Given the description of an element on the screen output the (x, y) to click on. 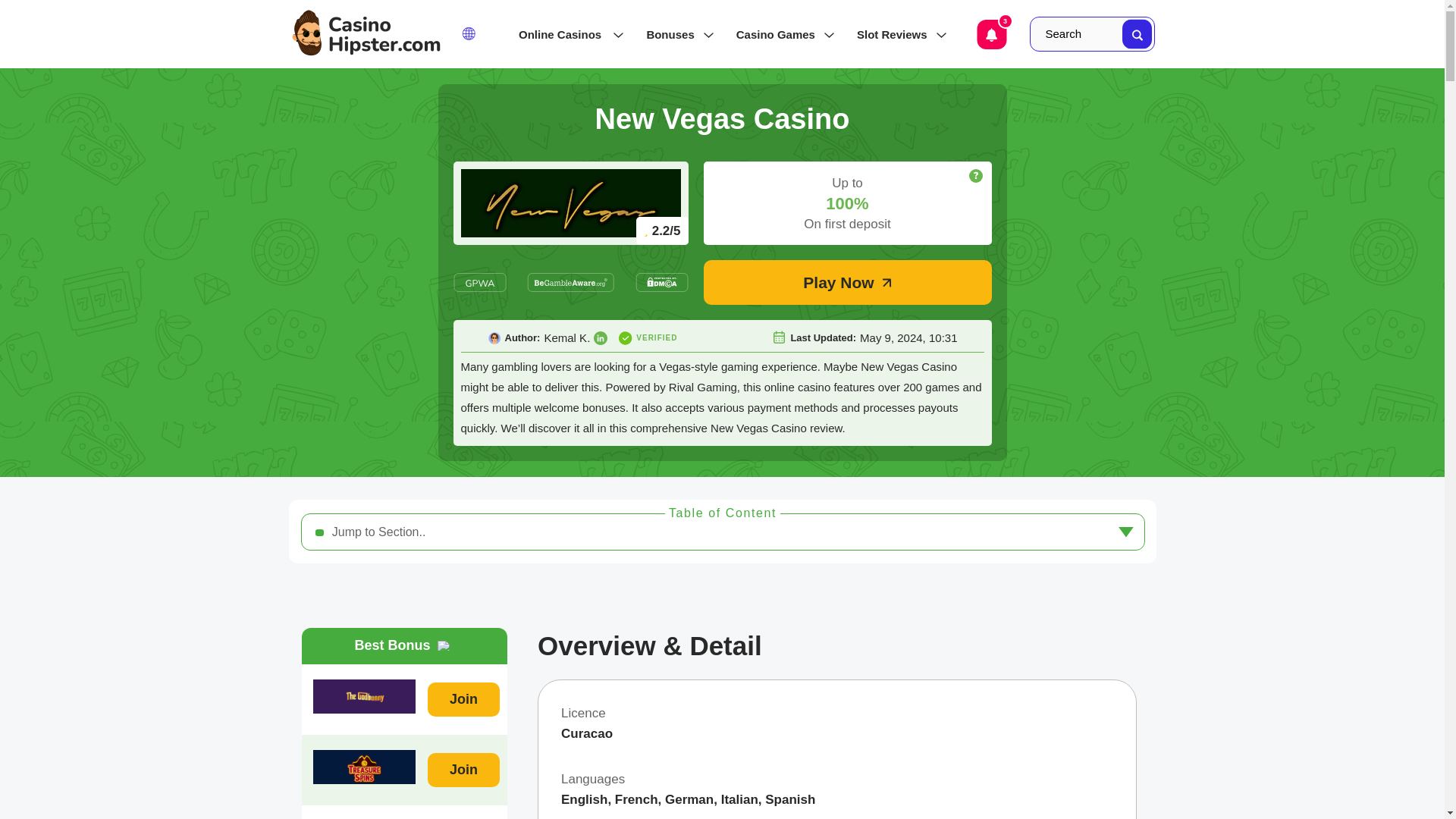
Online Casinos  (566, 34)
Bonuses (675, 34)
Treasure Spins (363, 766)
Casino Games (780, 34)
Slot Reviews (897, 34)
GodBunny (363, 696)
